Given the description of an element on the screen output the (x, y) to click on. 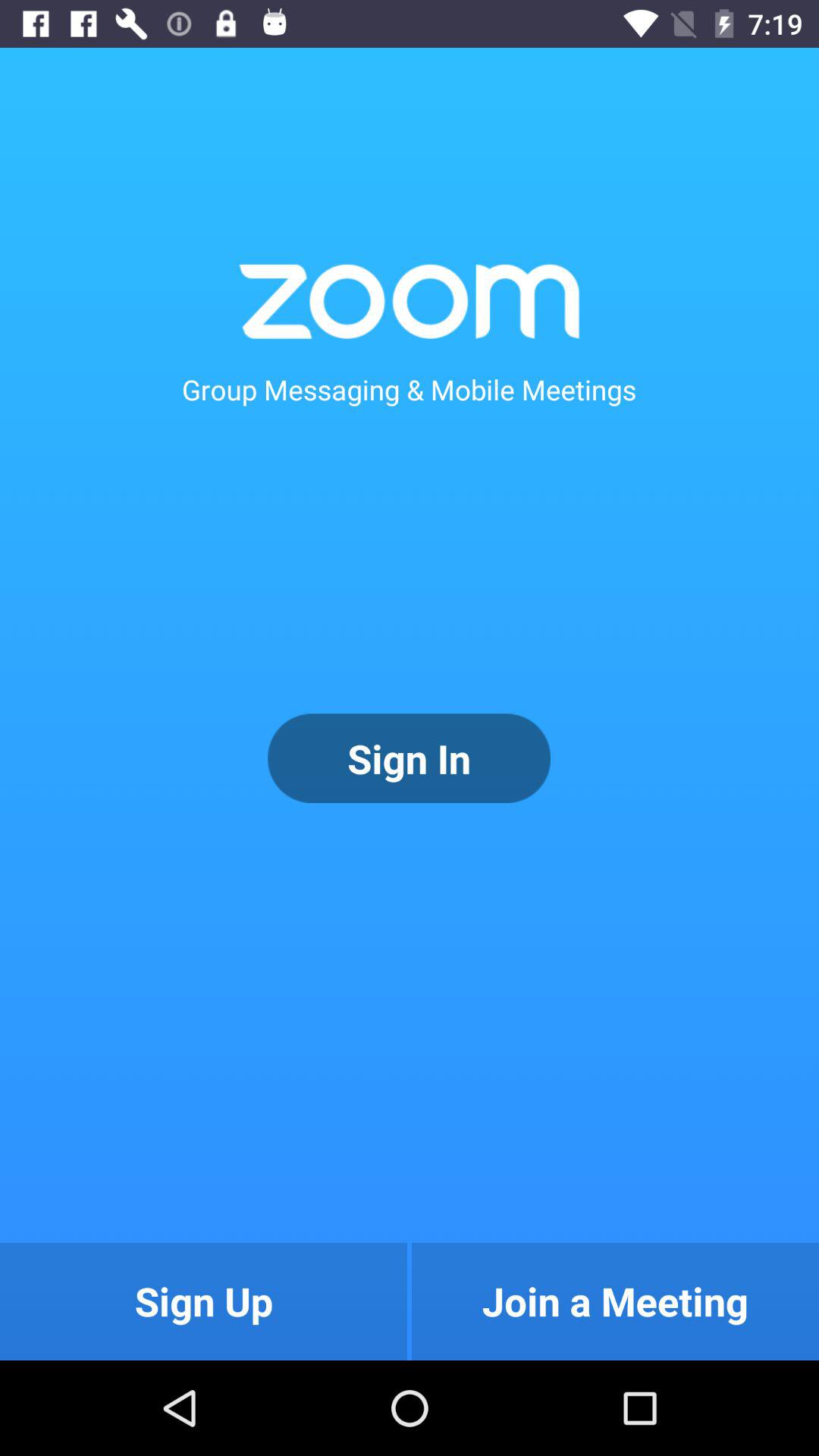
scroll to join a meeting (615, 1301)
